Given the description of an element on the screen output the (x, y) to click on. 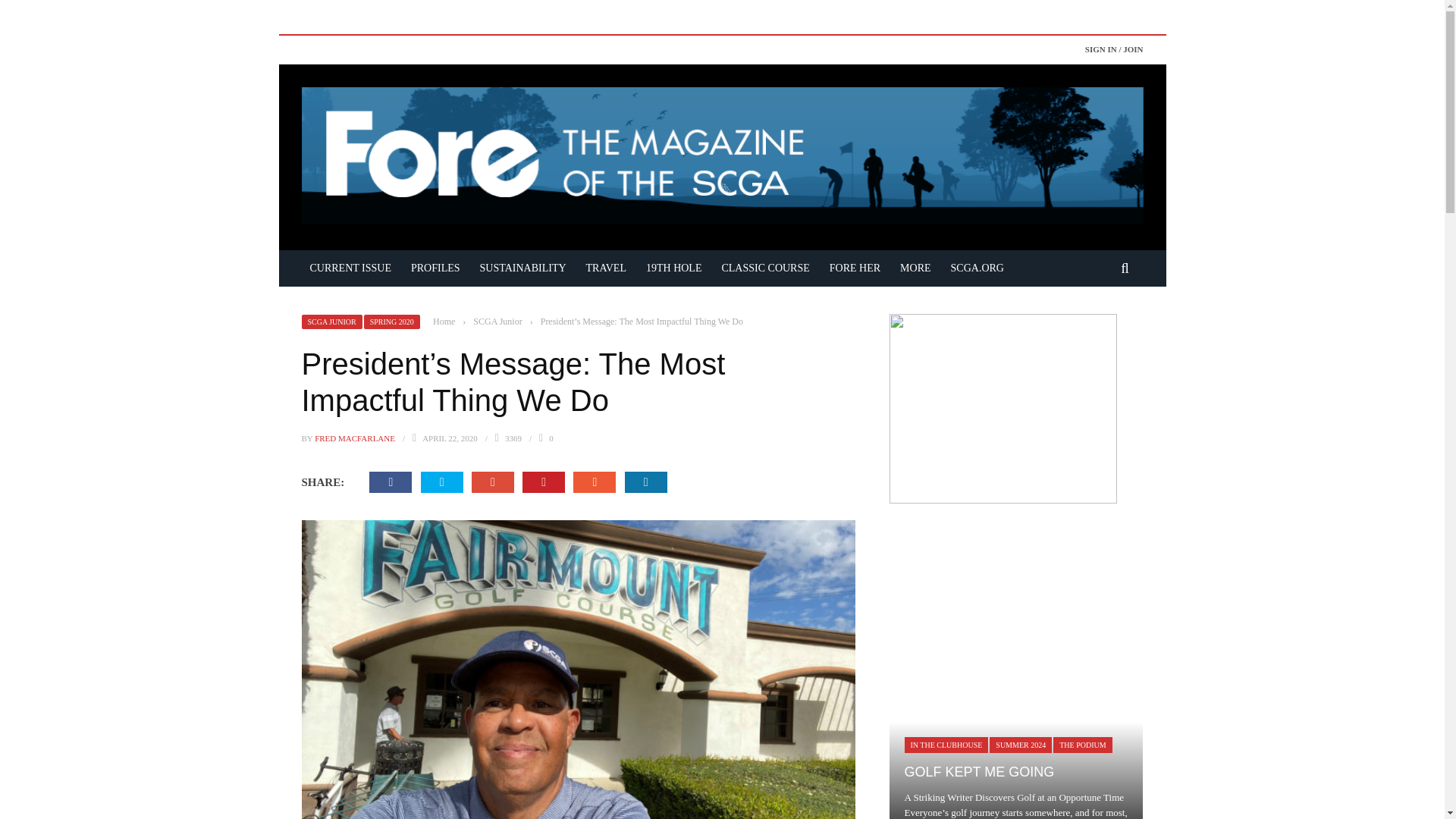
SUSTAINABILITY (523, 267)
CLASSIC COURSE (764, 267)
MORE (915, 267)
19TH HOLE (673, 267)
PROFILES (435, 267)
CURRENT ISSUE (349, 267)
TRAVEL (606, 267)
FORE HER (854, 267)
